Given the description of an element on the screen output the (x, y) to click on. 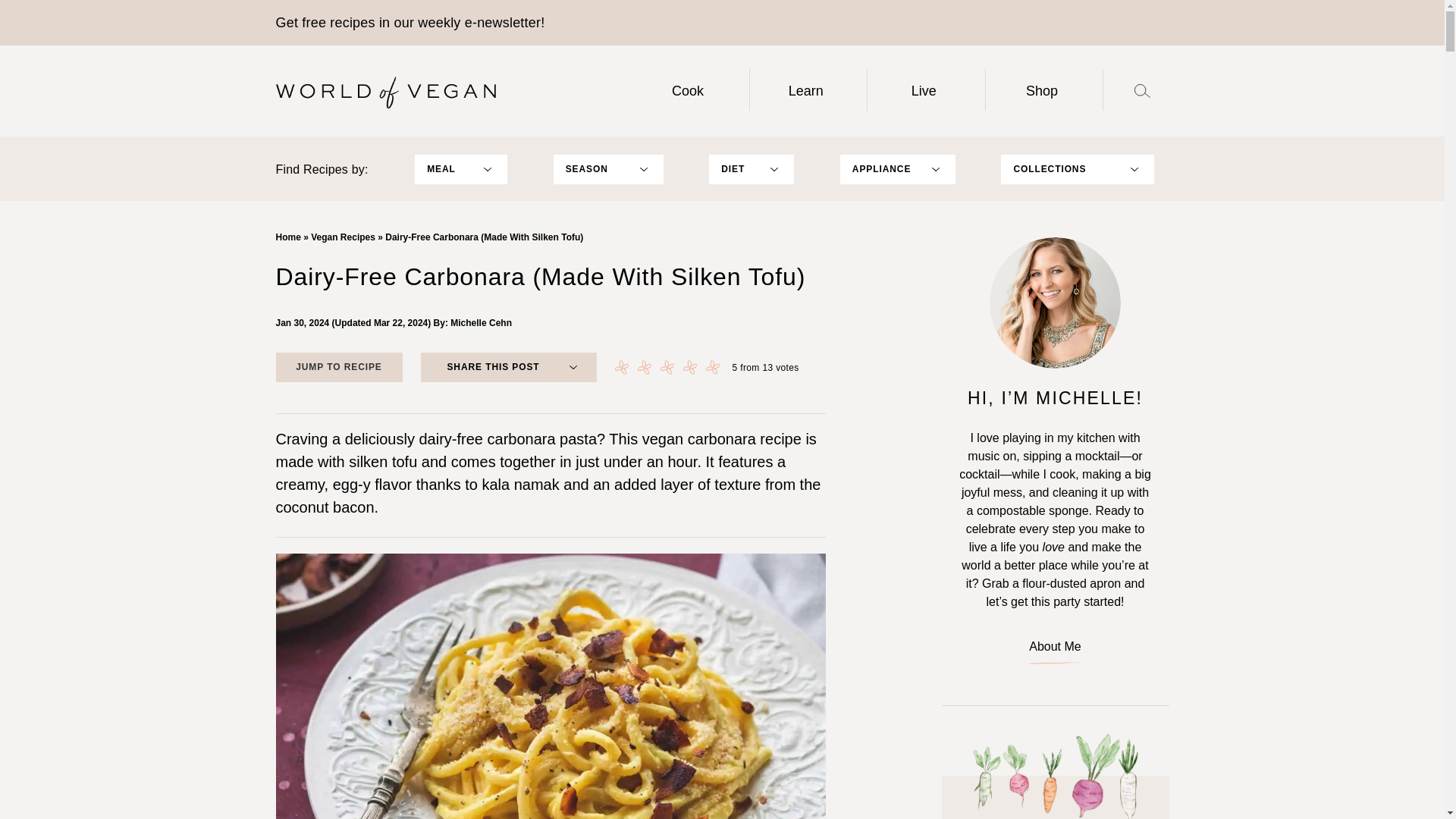
weekly e-newsletter (478, 22)
Michelle Cehn (480, 322)
